Given the description of an element on the screen output the (x, y) to click on. 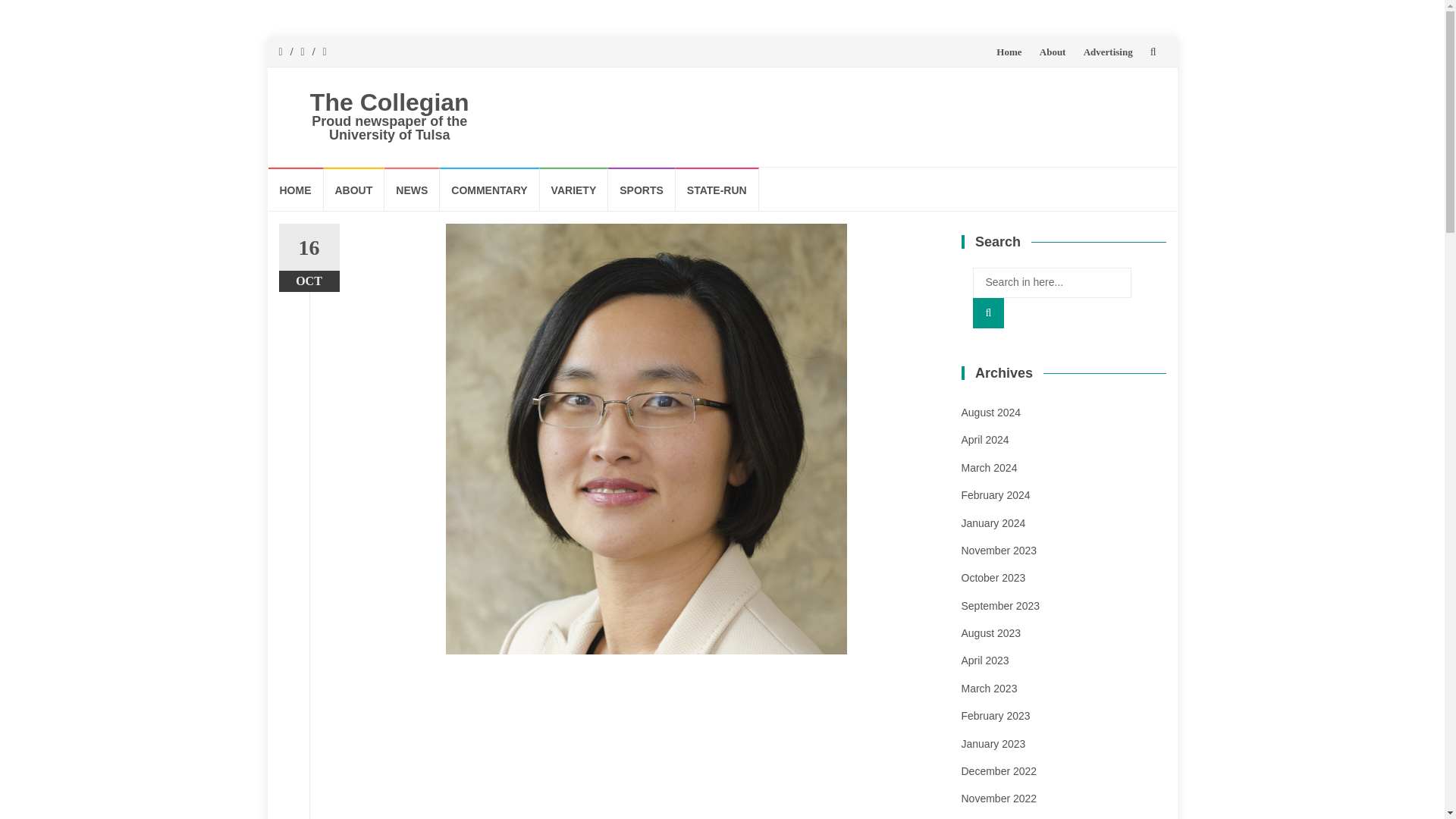
NEWS (411, 188)
Advertising (1107, 51)
STATE-RUN (716, 188)
The Collegian (389, 102)
The Collegian (389, 102)
Home (1008, 51)
SPORTS (641, 188)
